Given the description of an element on the screen output the (x, y) to click on. 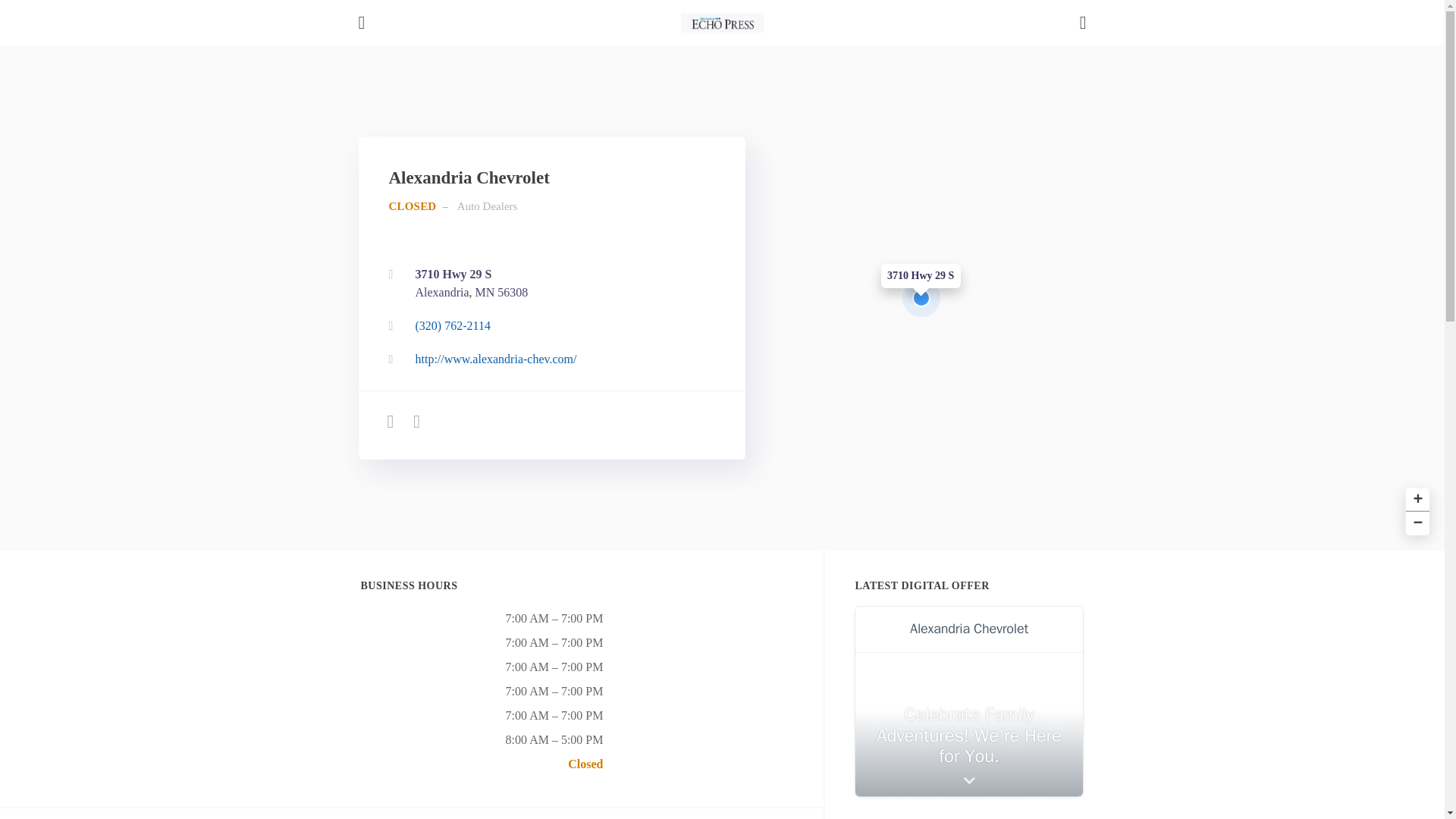
Call Phone Number (547, 326)
Zoom out (1415, 521)
Zoom in (1415, 496)
Origami widget number: 2008616 (969, 701)
Open website in a new tab (547, 283)
Get directions (547, 359)
Auto Dealers (547, 283)
